Given the description of an element on the screen output the (x, y) to click on. 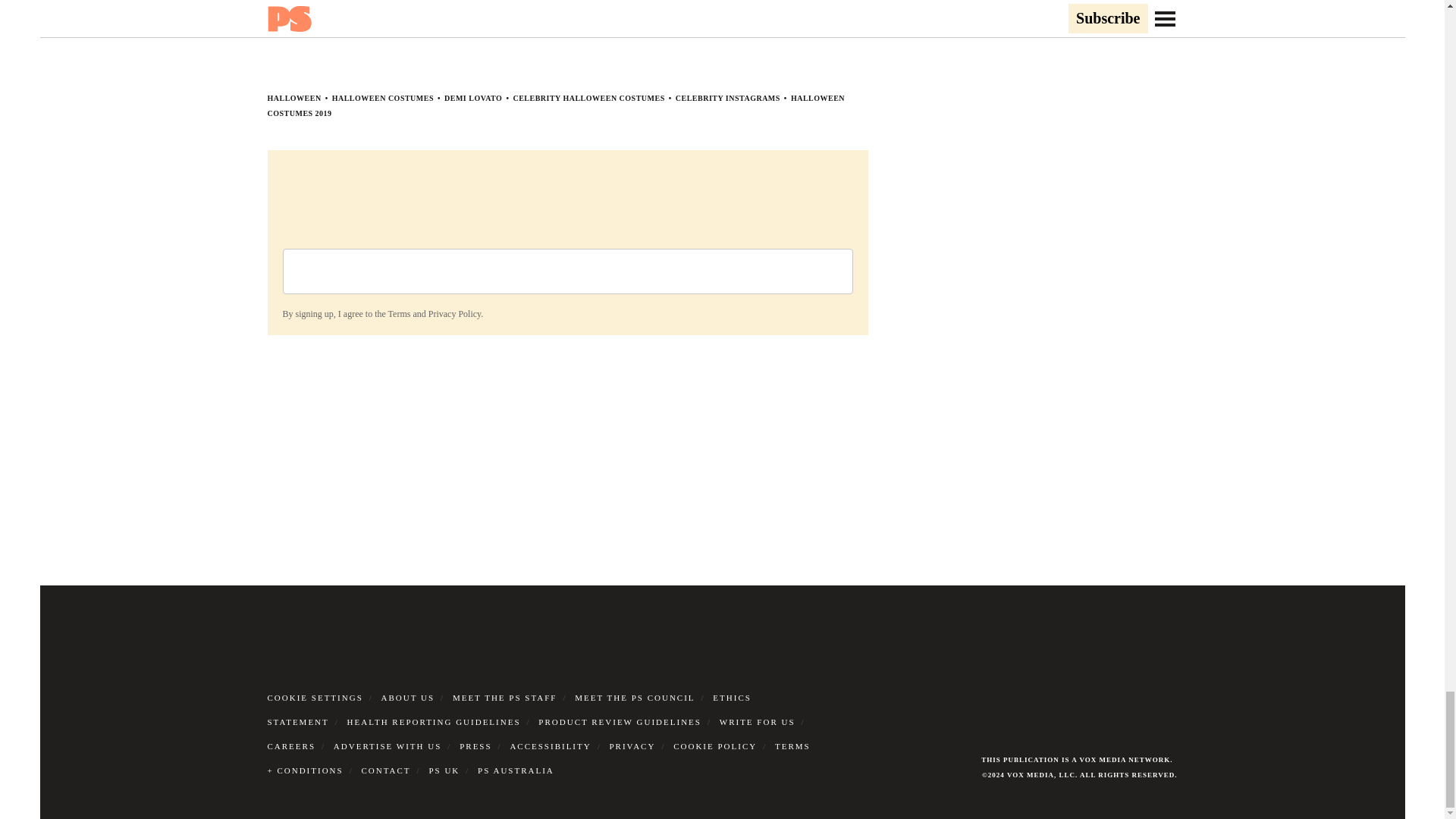
HALLOWEEN (293, 98)
Privacy Policy. (455, 313)
CELEBRITY HALLOWEEN COSTUMES (587, 98)
HALLOWEEN COSTUMES 2019 (555, 105)
PRODUCT REVIEW GUIDELINES (619, 721)
HEALTH REPORTING GUIDELINES (434, 721)
CAREERS (290, 746)
MEET THE PS COUNCIL (634, 697)
Terms (399, 313)
ABOUT US (408, 697)
ETHICS STATEMENT (508, 709)
MEET THE PS STAFF (504, 697)
WRITE FOR US (756, 721)
CELEBRITY INSTAGRAMS (727, 98)
HALLOWEEN COSTUMES (382, 98)
